Given the description of an element on the screen output the (x, y) to click on. 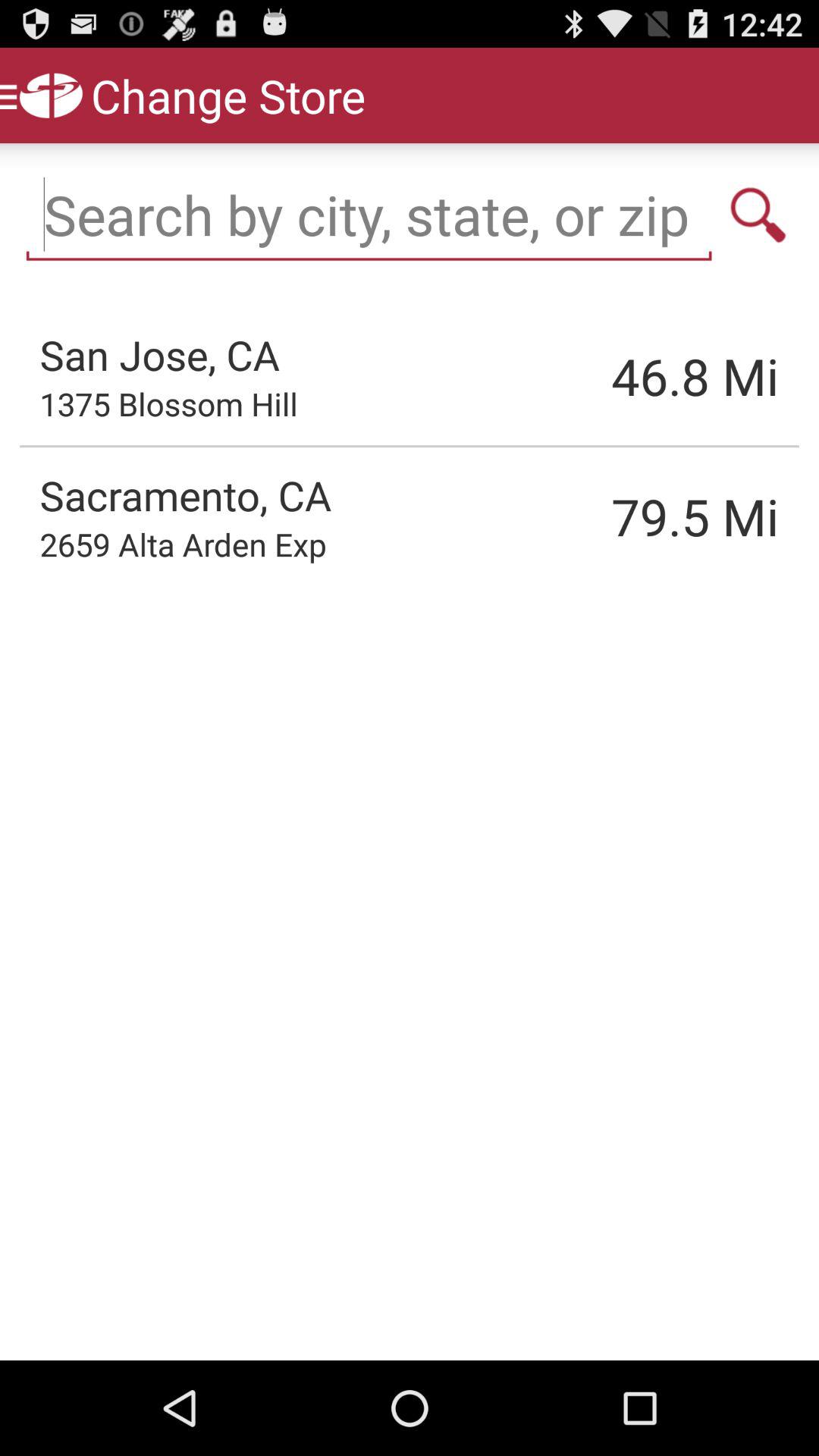
search bar (368, 215)
